Given the description of an element on the screen output the (x, y) to click on. 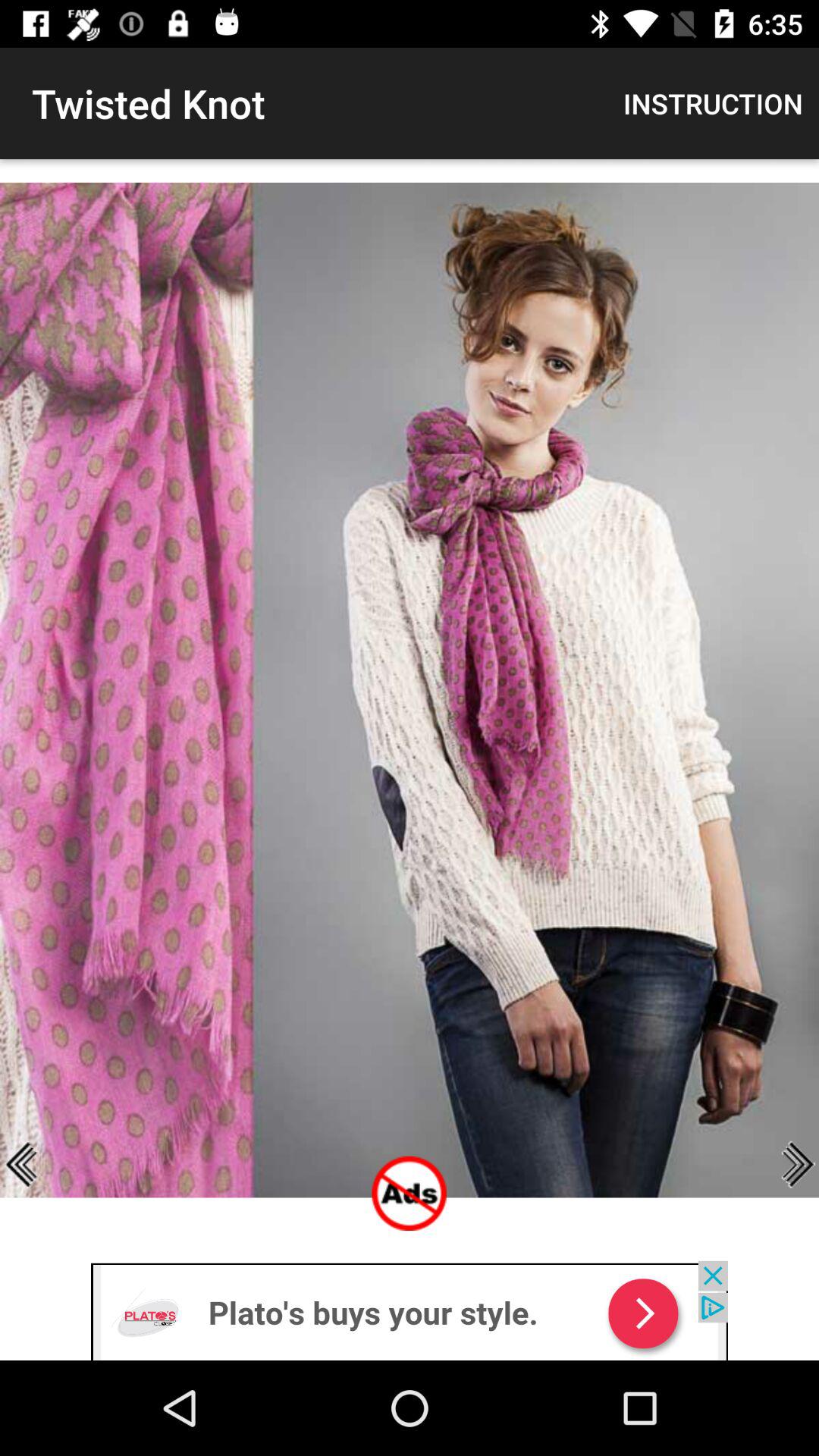
choose the app next to the twisted knot icon (713, 103)
